Given the description of an element on the screen output the (x, y) to click on. 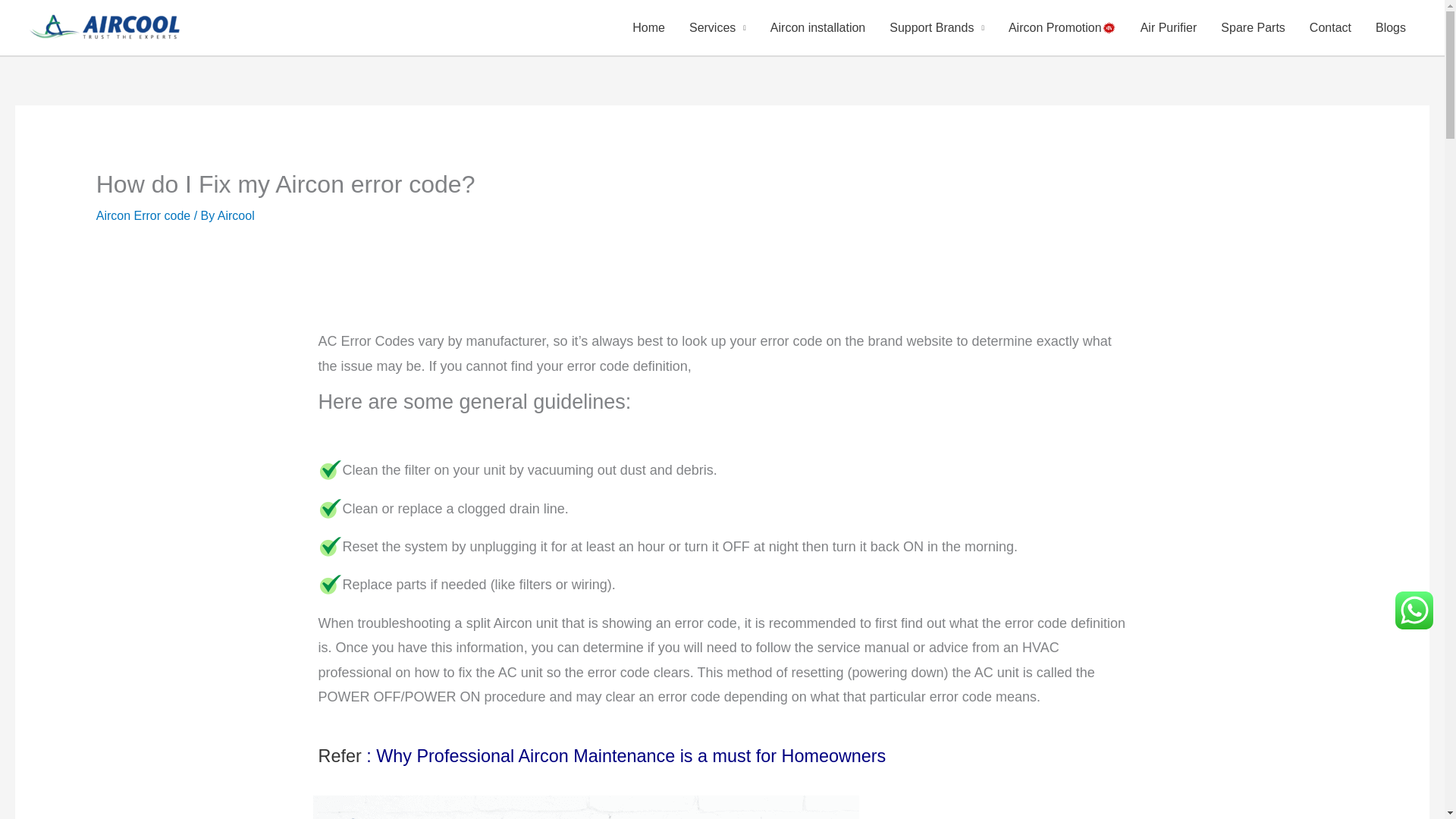
Spare Parts (1252, 27)
View all posts by Aircool (235, 215)
Aircon Error code (586, 807)
Aircool (235, 215)
Aircon Error code (143, 215)
Aircon Promotion (1061, 27)
Why Professional Aircon Maintenance is a must for Homeowners (630, 759)
Blogs (1390, 27)
Home (648, 27)
Services (717, 27)
Contact (1329, 27)
Aircon installation (817, 27)
Air Purifier (1168, 27)
Support Brands (936, 27)
